Given the description of an element on the screen output the (x, y) to click on. 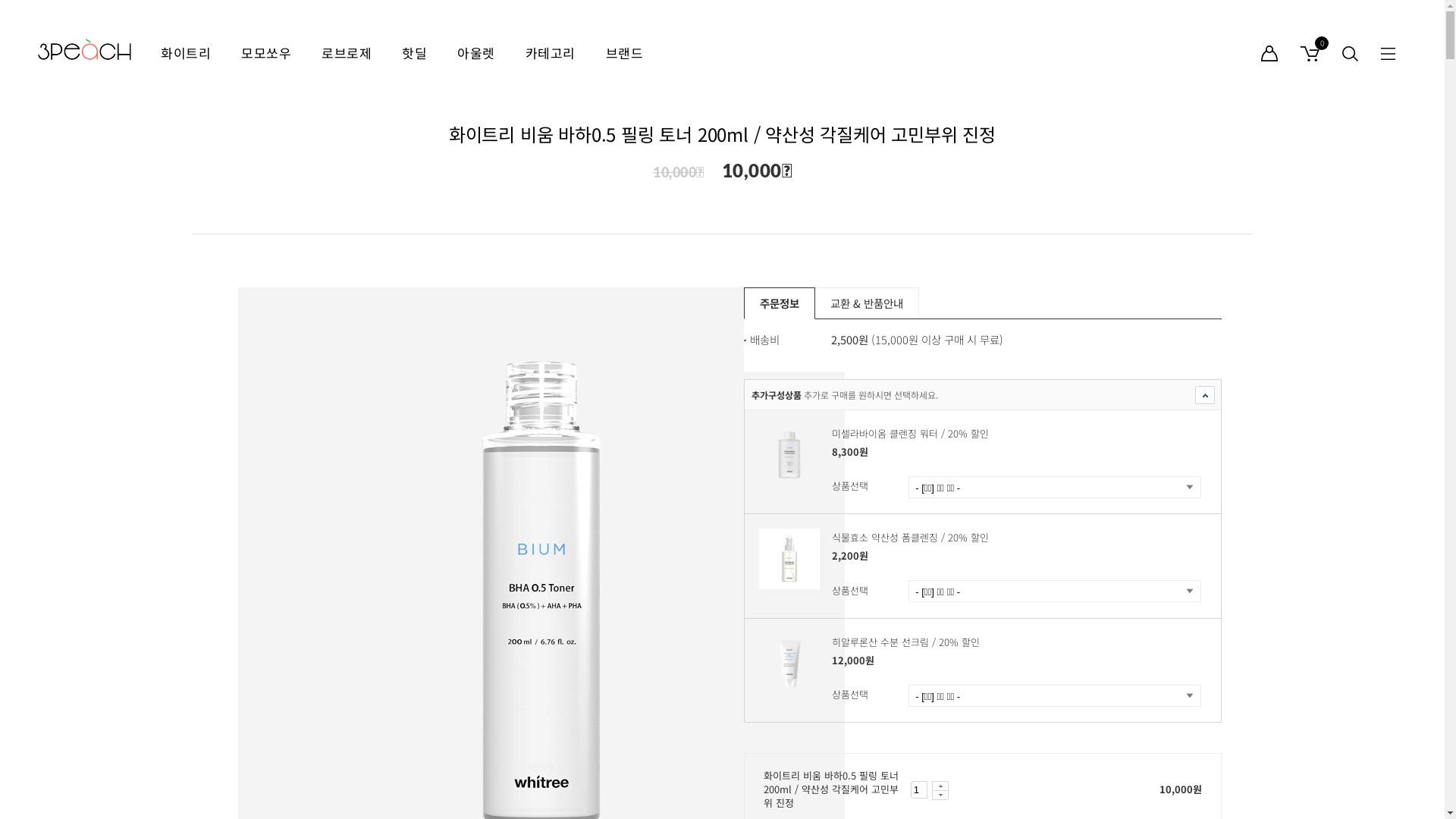
0 Element type: text (1310, 53)
